Given the description of an element on the screen output the (x, y) to click on. 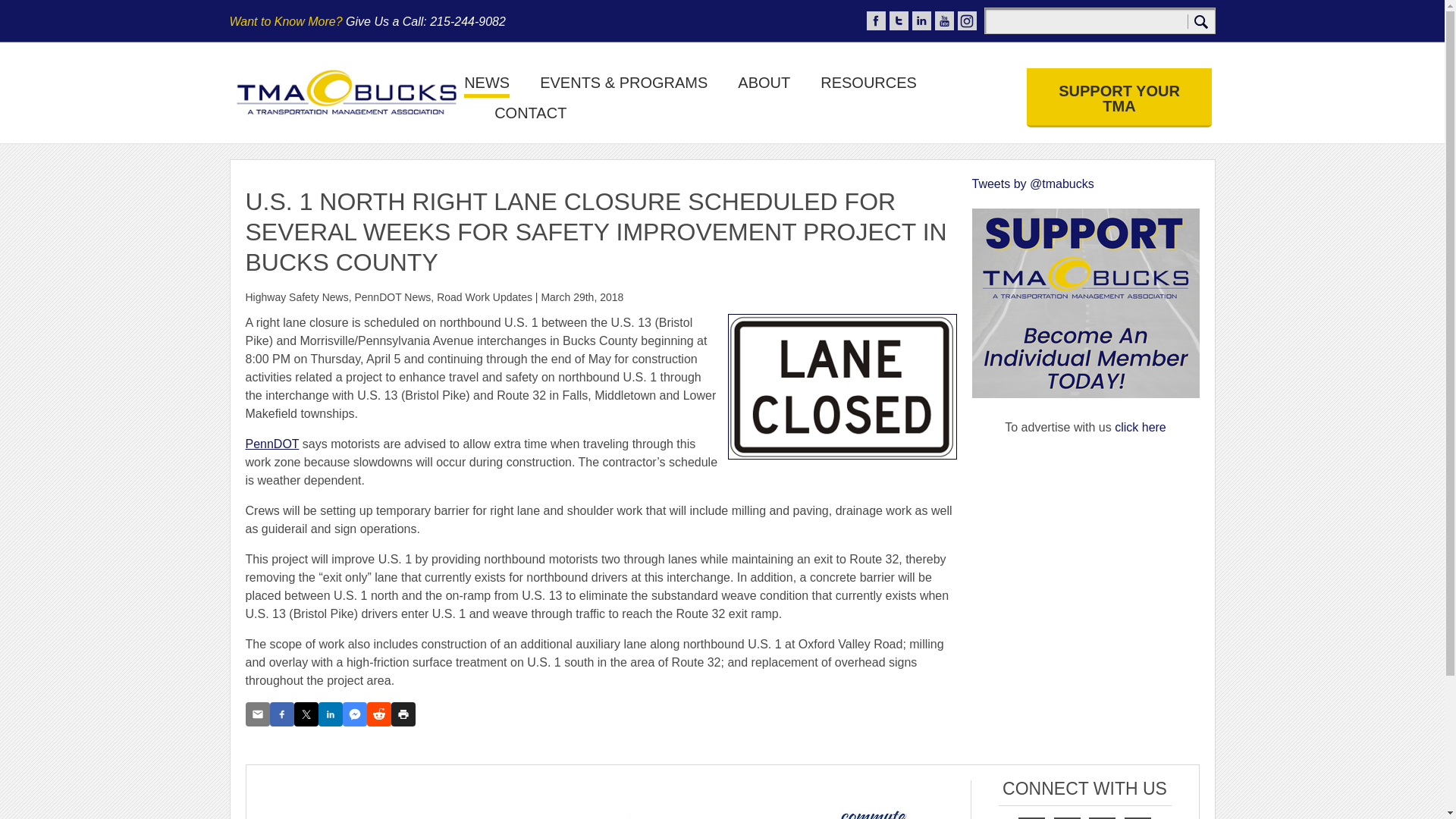
Highway Safety News (297, 297)
PennDOT News (391, 297)
Road Work Updates (484, 297)
RESOURCES (869, 86)
CONTACT (530, 116)
click here (1140, 427)
PennDOT (272, 443)
Search (1201, 21)
Search (1201, 21)
SUPPORT YOUR TMA (1118, 97)
ABOUT (764, 86)
NEWS (486, 86)
